Given the description of an element on the screen output the (x, y) to click on. 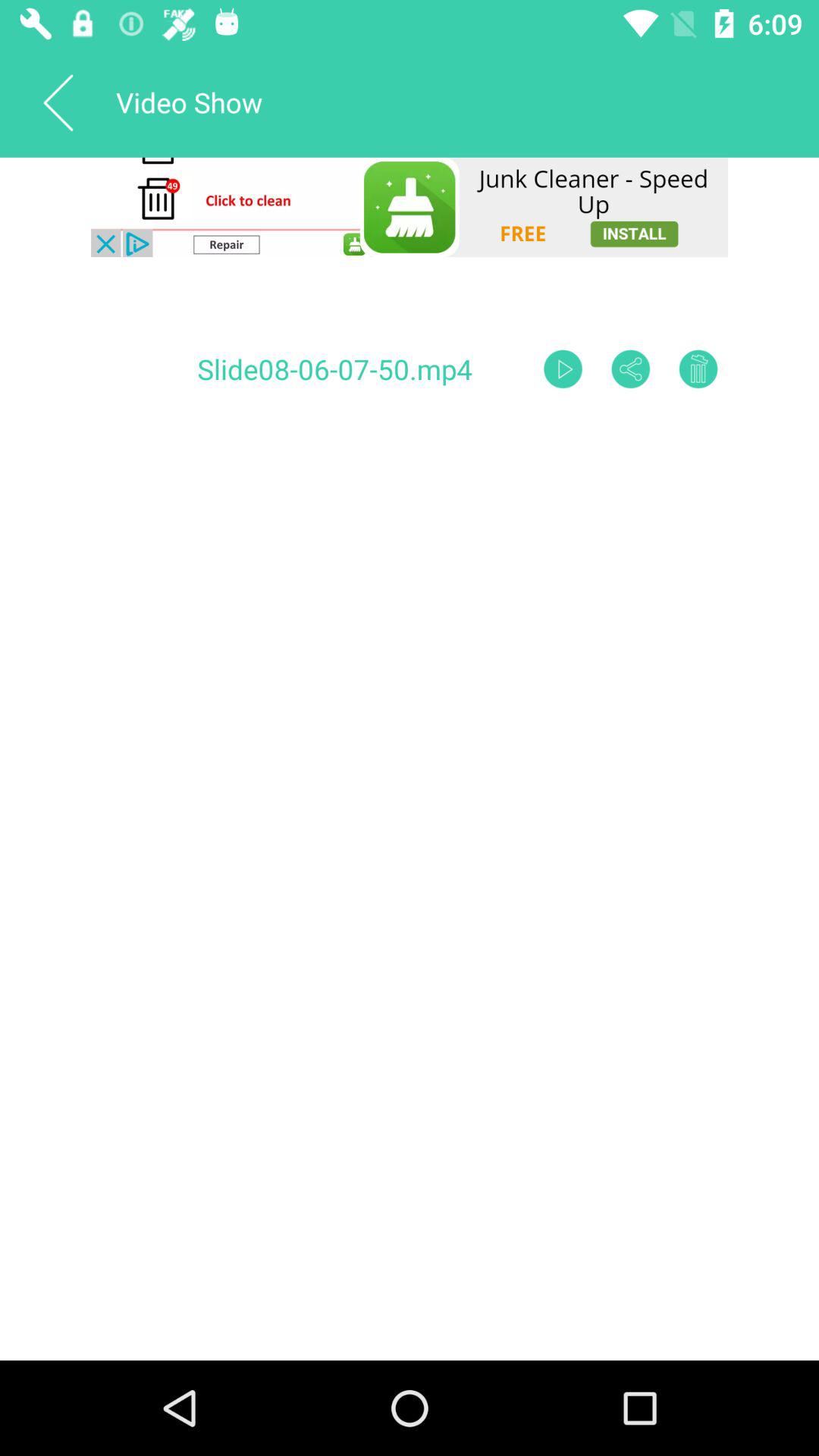
go back (57, 102)
